Given the description of an element on the screen output the (x, y) to click on. 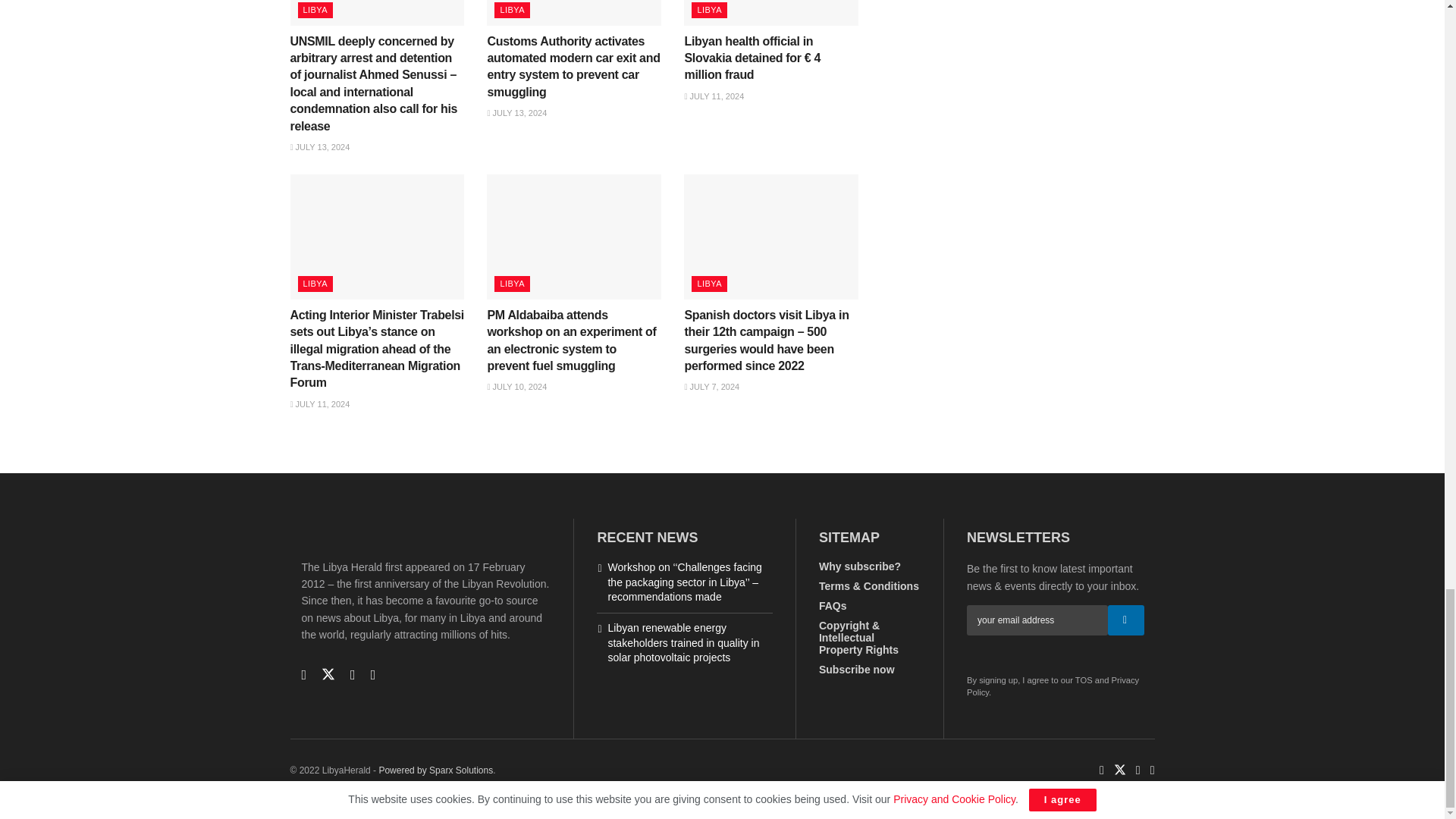
Sparx Solutions (435, 769)
